Given the description of an element on the screen output the (x, y) to click on. 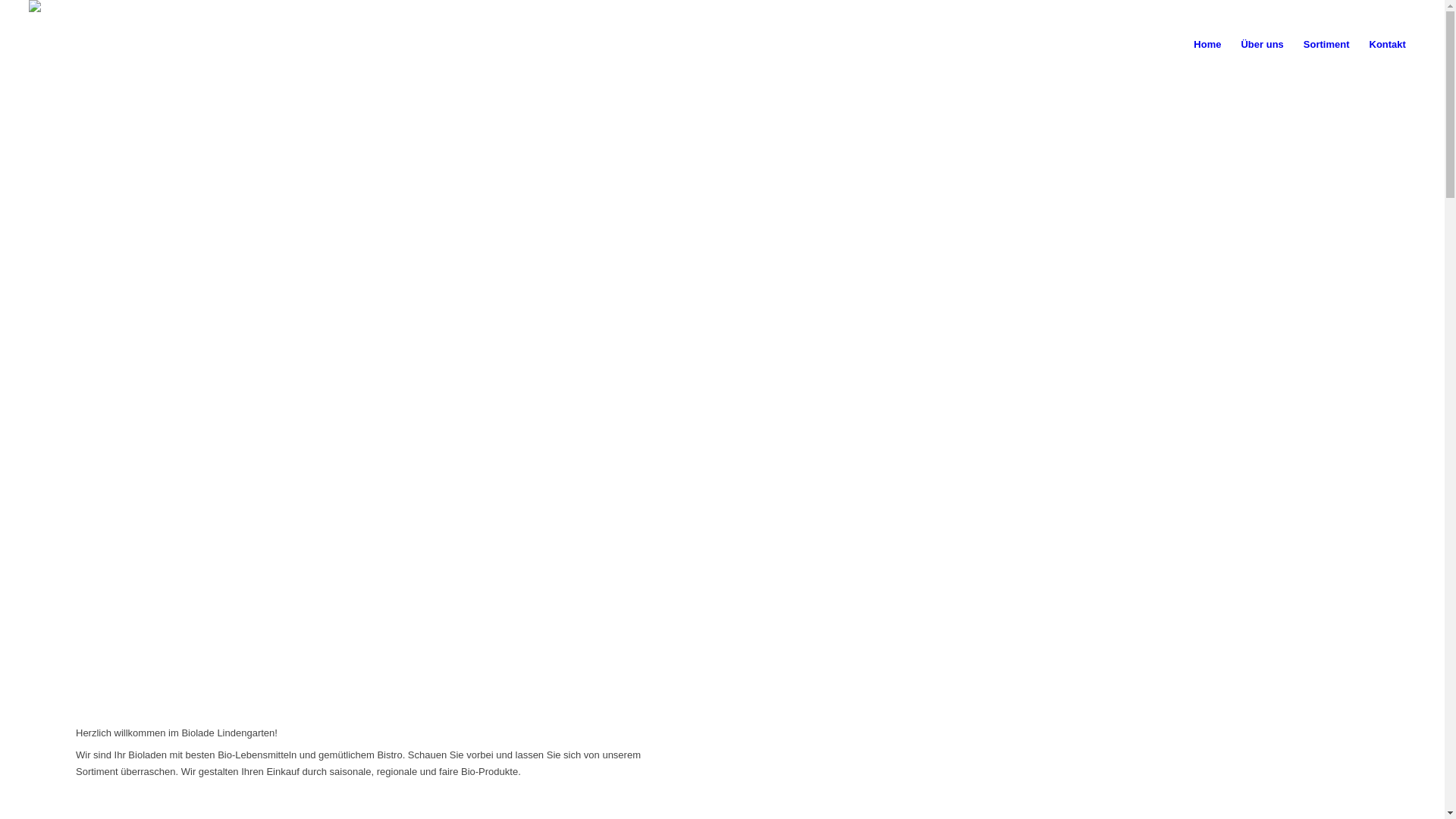
Home Element type: text (1206, 44)
biolade-lindengarten_logo Element type: hover (81, 17)
biolade-lindengarten_logo Element type: hover (81, 44)
Kontakt Element type: text (1386, 44)
Sortiment Element type: text (1326, 44)
